Given the description of an element on the screen output the (x, y) to click on. 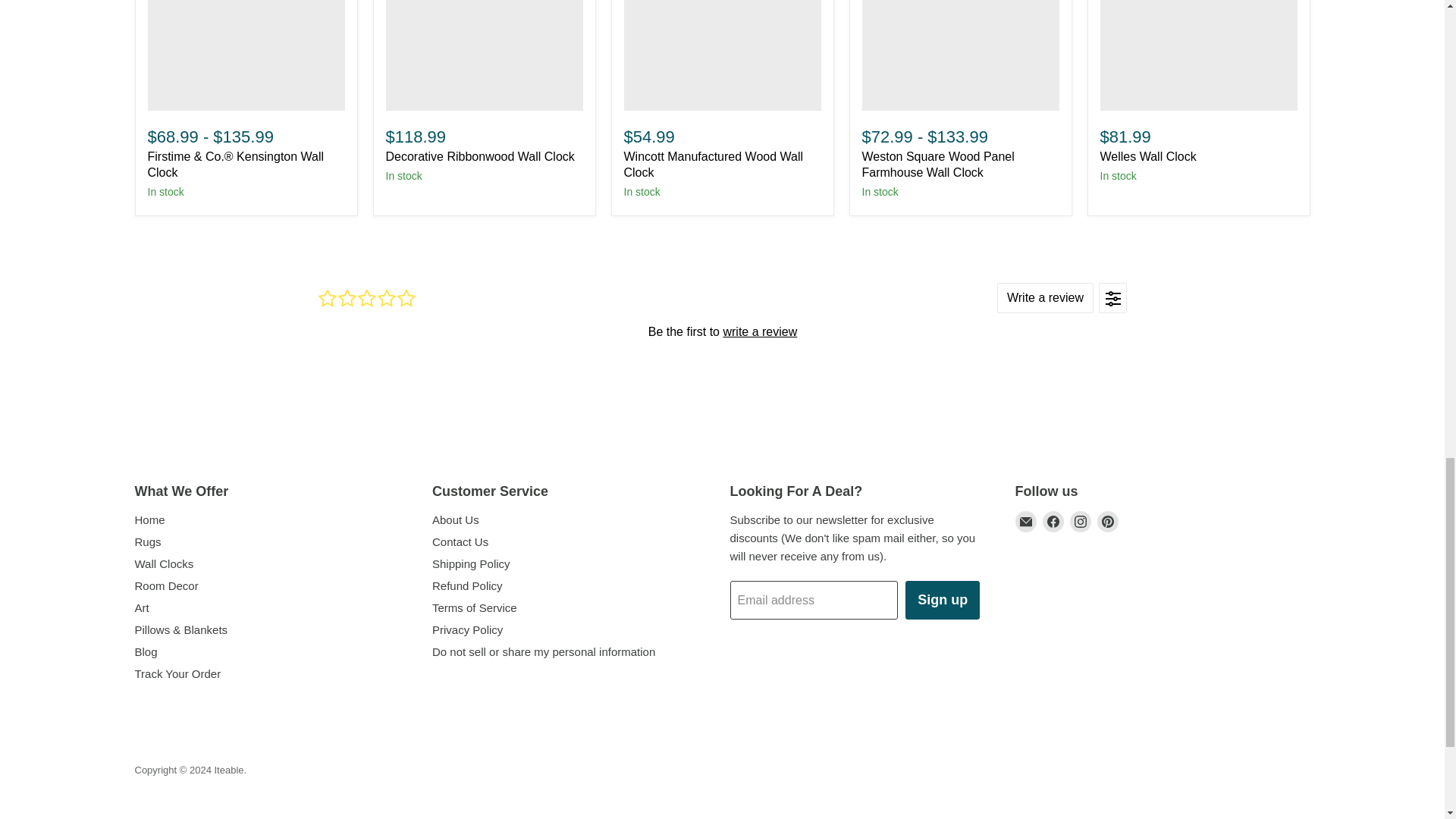
Product reviews widget (722, 330)
Pinterest (1107, 521)
Facebook (1052, 521)
Instagram (1079, 521)
Email (1024, 521)
